Given the description of an element on the screen output the (x, y) to click on. 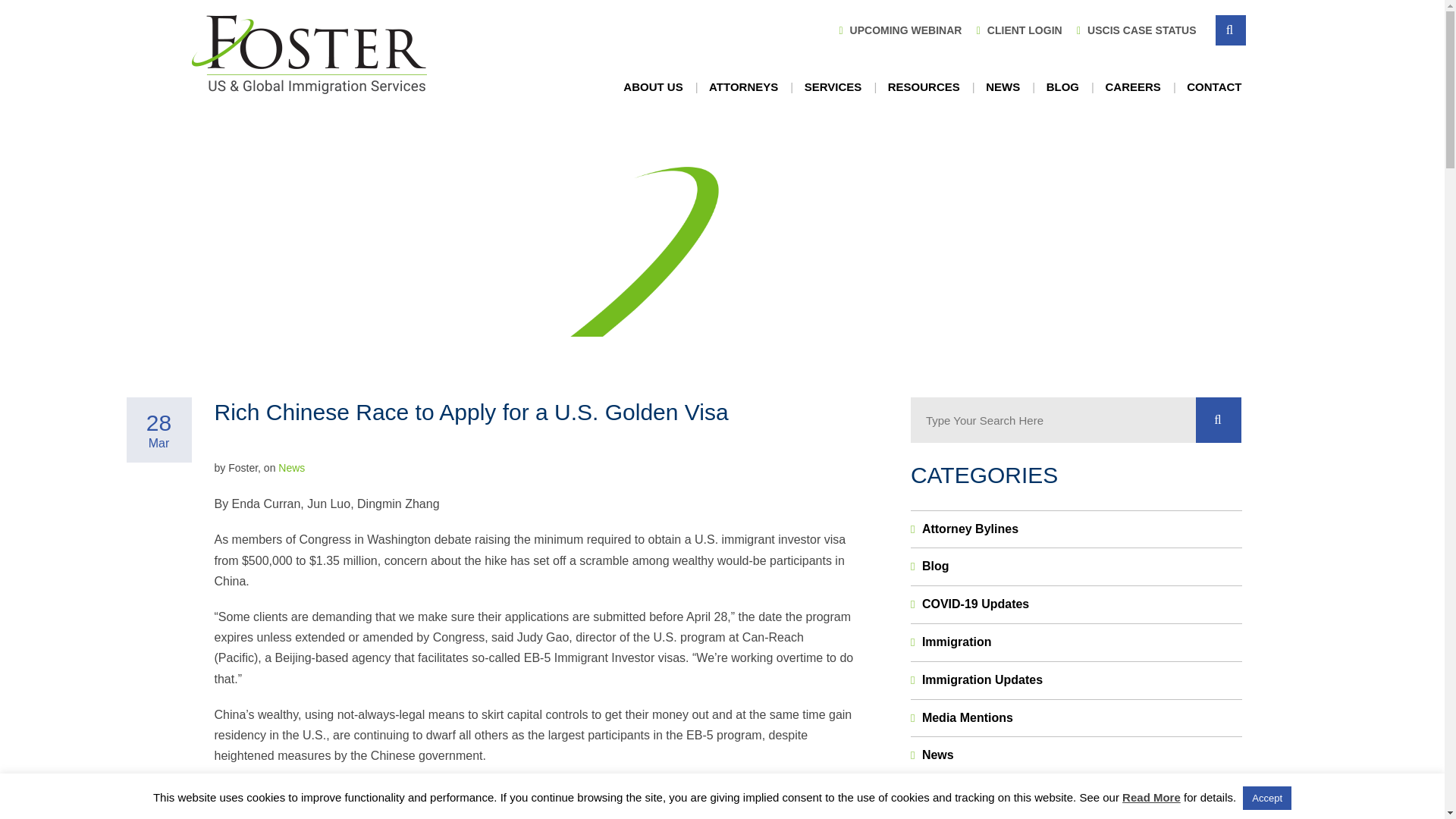
CONTACT (1214, 87)
SERVICES (833, 87)
RESOURCES (923, 87)
BLOG (1062, 87)
ABOUT US (652, 87)
CAREERS (1131, 87)
NEWS (1003, 87)
ATTORNEYS (743, 87)
